Given the description of an element on the screen output the (x, y) to click on. 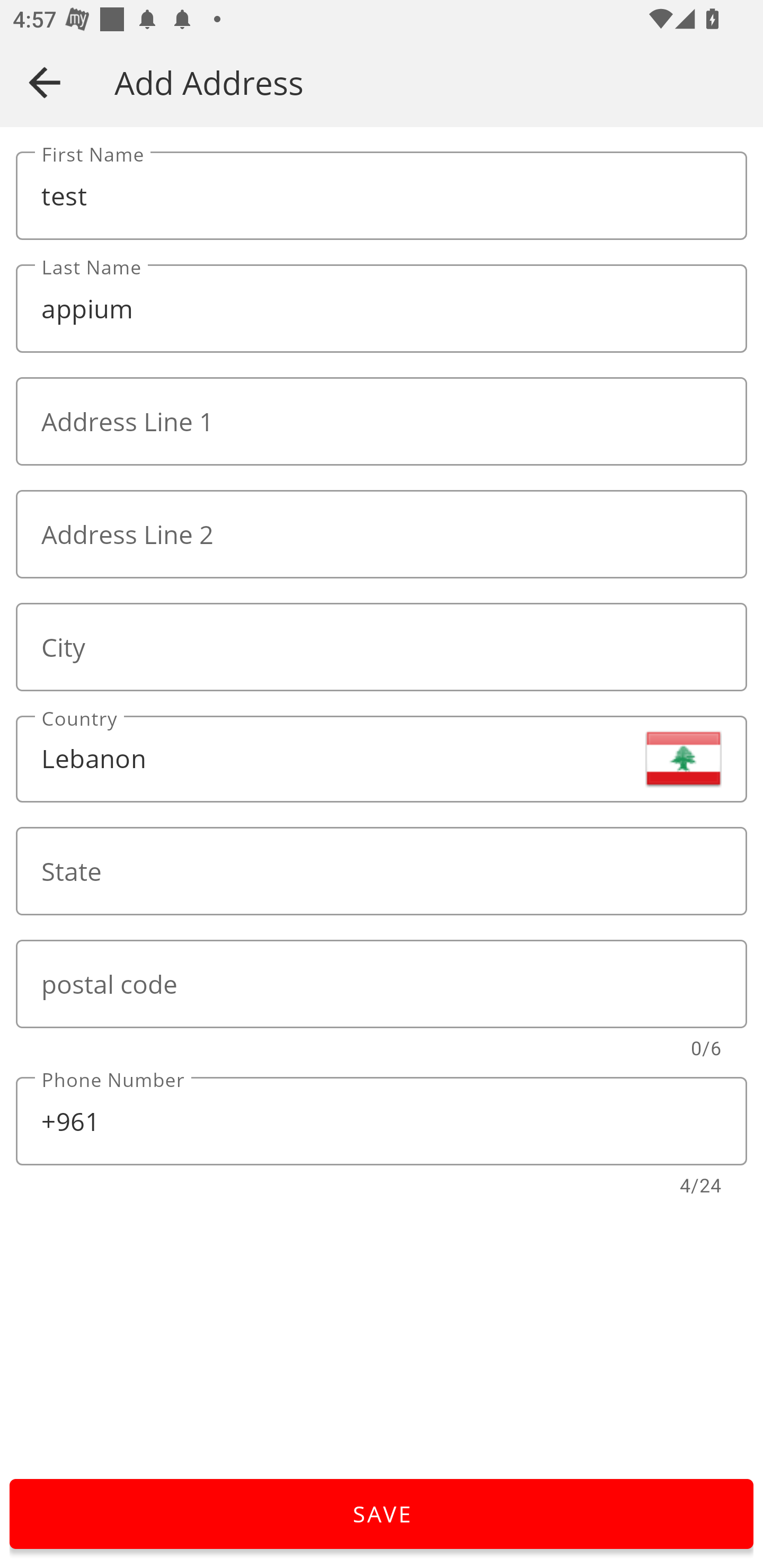
Navigate up (44, 82)
test (381, 195)
appium (381, 308)
Address Line 1 (381, 421)
Address Line 2 (381, 533)
City (381, 646)
Lebanon (381, 758)
State (381, 870)
postal code (381, 983)
+961 (381, 1121)
SAVE (381, 1513)
